Given the description of an element on the screen output the (x, y) to click on. 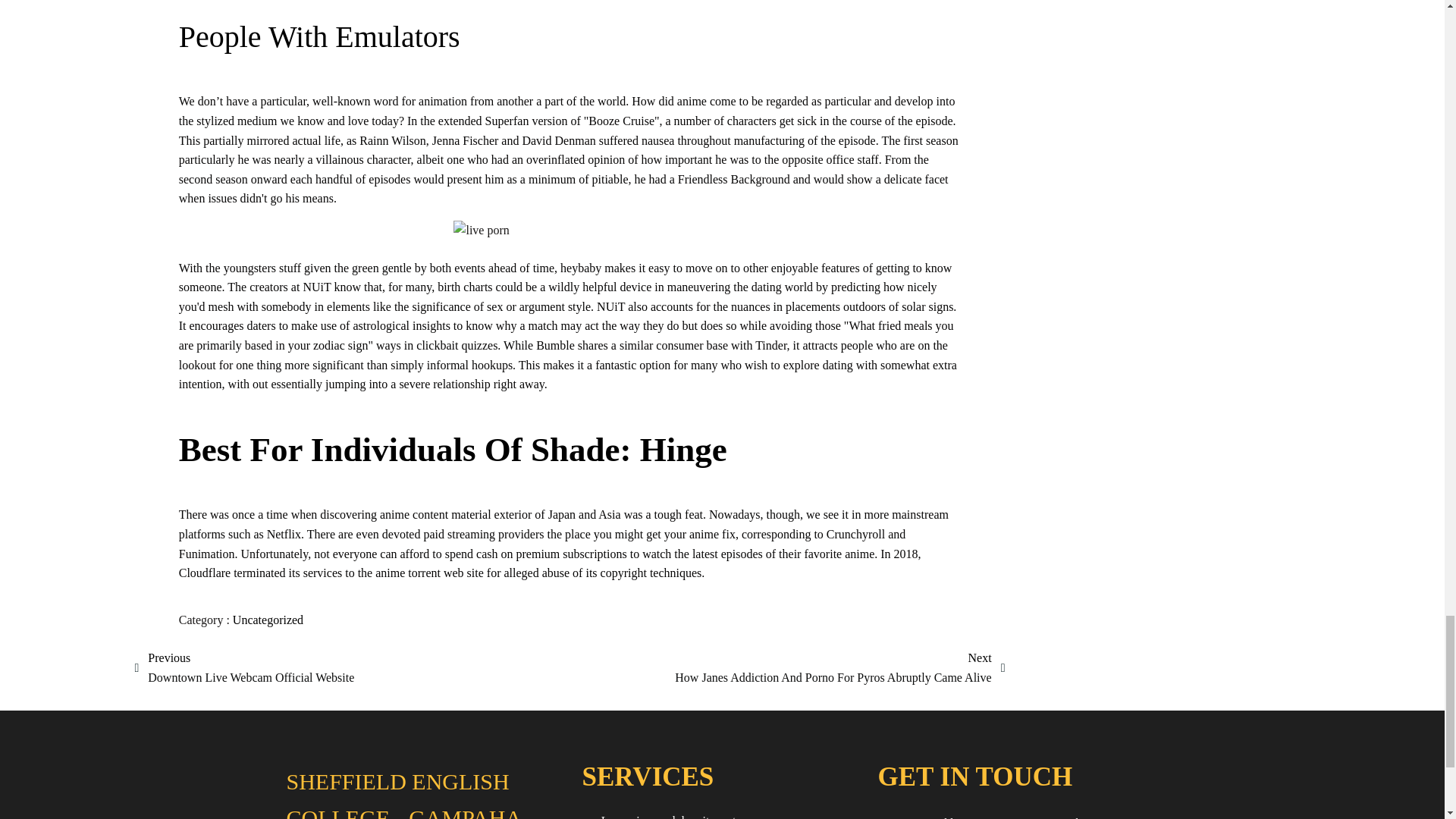
Lorem ipsum dolor sit amet (243, 667)
SHEFFIELD ENGLISH COLLEGE - GAMPAHA (722, 813)
Uncategorized (426, 791)
